Given the description of an element on the screen output the (x, y) to click on. 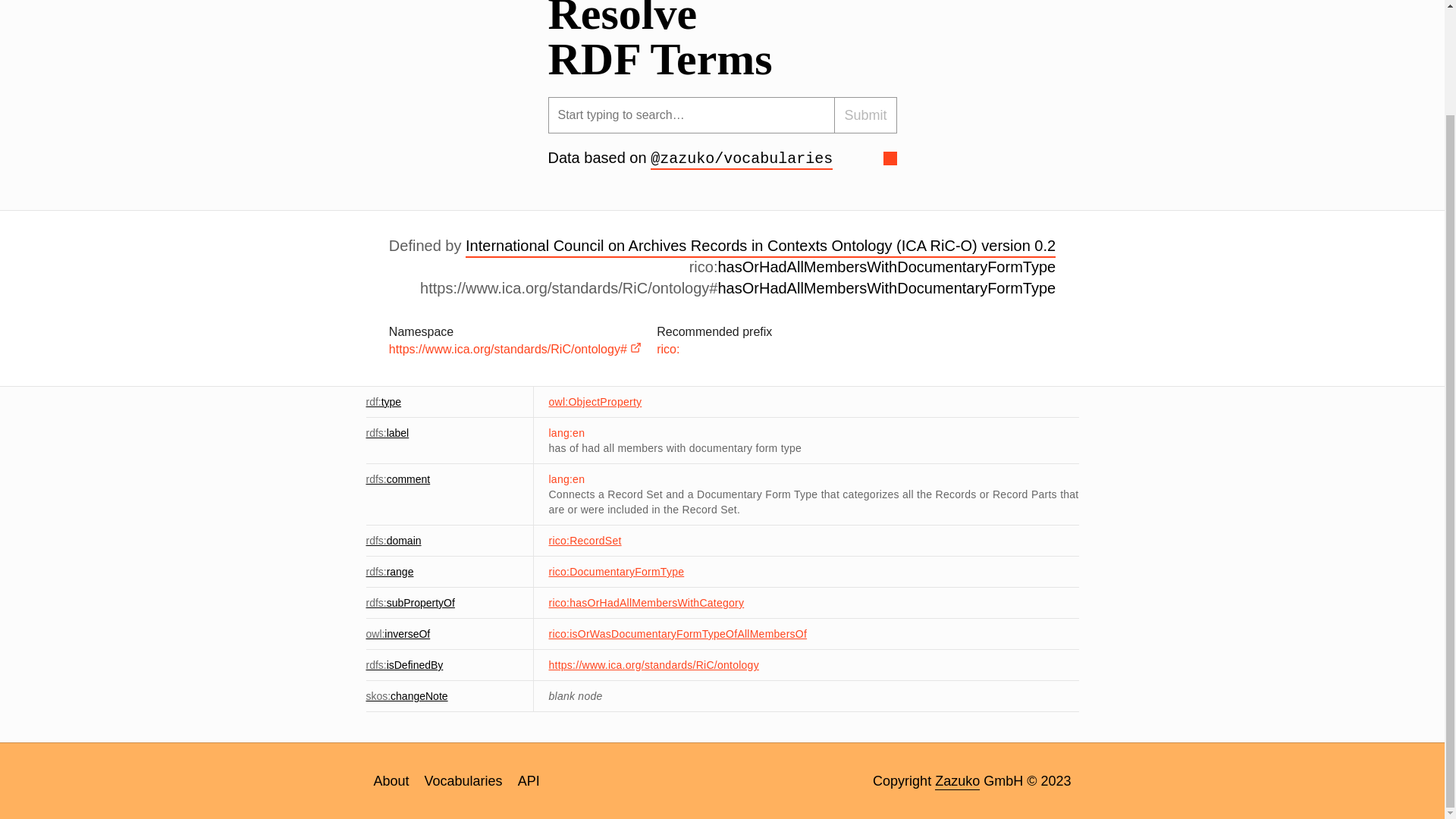
rdfs: comment (397, 479)
Zazuko (956, 781)
rdfs: label (387, 432)
rico:hasOrHadAllMembersWithCategory (646, 603)
Submit (865, 115)
owl:ObjectProperty (595, 401)
owl: inverseOf (397, 633)
API (529, 781)
Vocabularies (463, 781)
rdfs: subPropertyOf (409, 603)
rico:RecordSet (584, 540)
About (390, 781)
rdfs: range (389, 571)
rico:isOrWasDocumentaryFormTypeOfAllMembersOf (678, 633)
rico:DocumentaryFormType (616, 571)
